Given the description of an element on the screen output the (x, y) to click on. 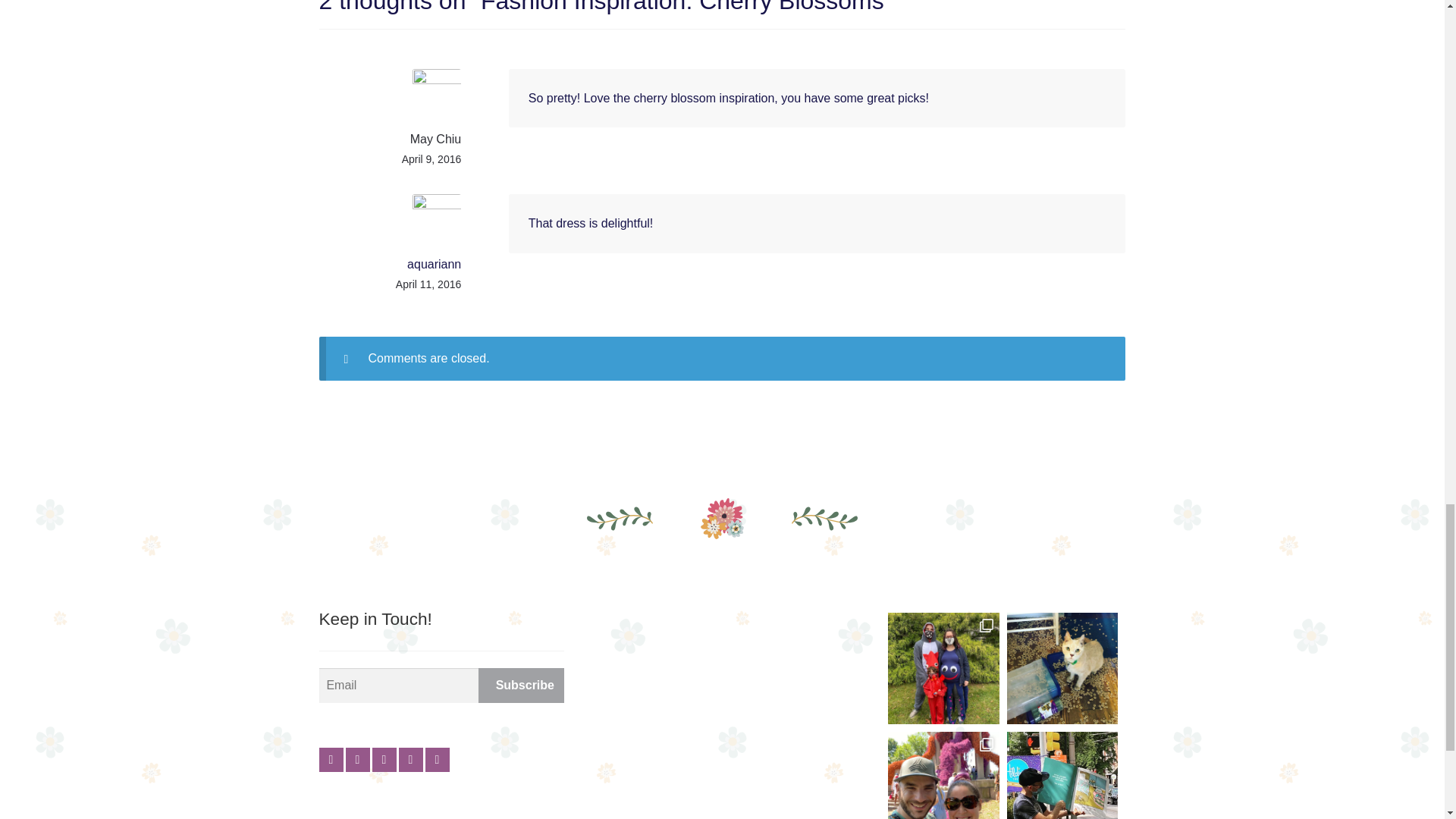
Follow Katie Crafts on Twitter (357, 759)
Follow Katie Crafts on Instagram (384, 759)
Subscribe (521, 685)
Follow Katie Crafts on Facebook (330, 759)
